Given the description of an element on the screen output the (x, y) to click on. 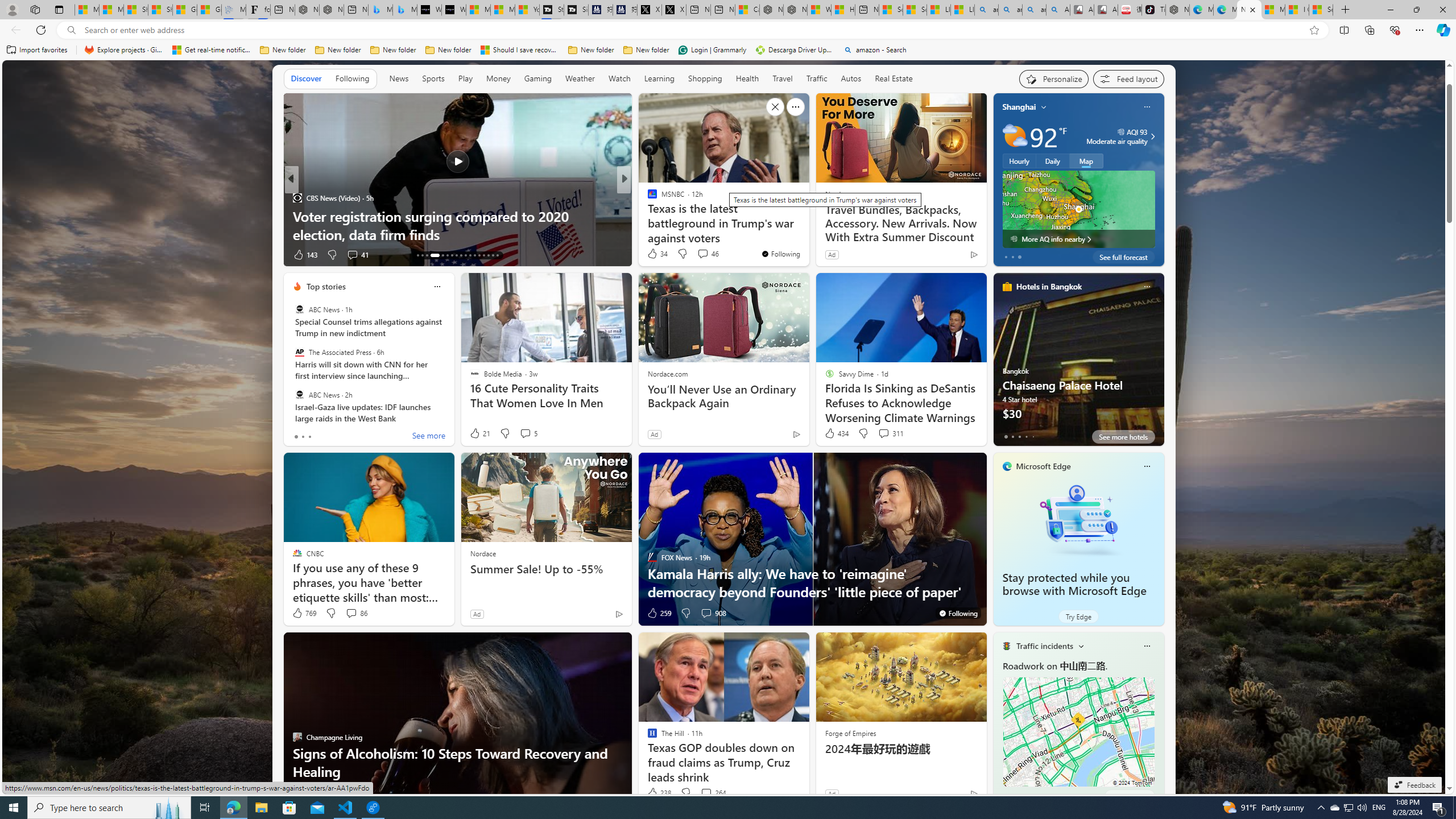
View comments 3 Comment (703, 254)
Map (1085, 160)
Traffic Title Traffic Light (1005, 645)
AutomationID: tab-20 (456, 255)
Autos (850, 79)
34 Like (657, 253)
AutomationID: tab-42 (497, 255)
More AQ info nearby (1077, 239)
You're following The Weather Channel (949, 256)
AutomationID: tab-24 (474, 255)
View comments 86 Comment (350, 613)
Play (465, 79)
View comments 264 Comment (712, 792)
